Given the description of an element on the screen output the (x, y) to click on. 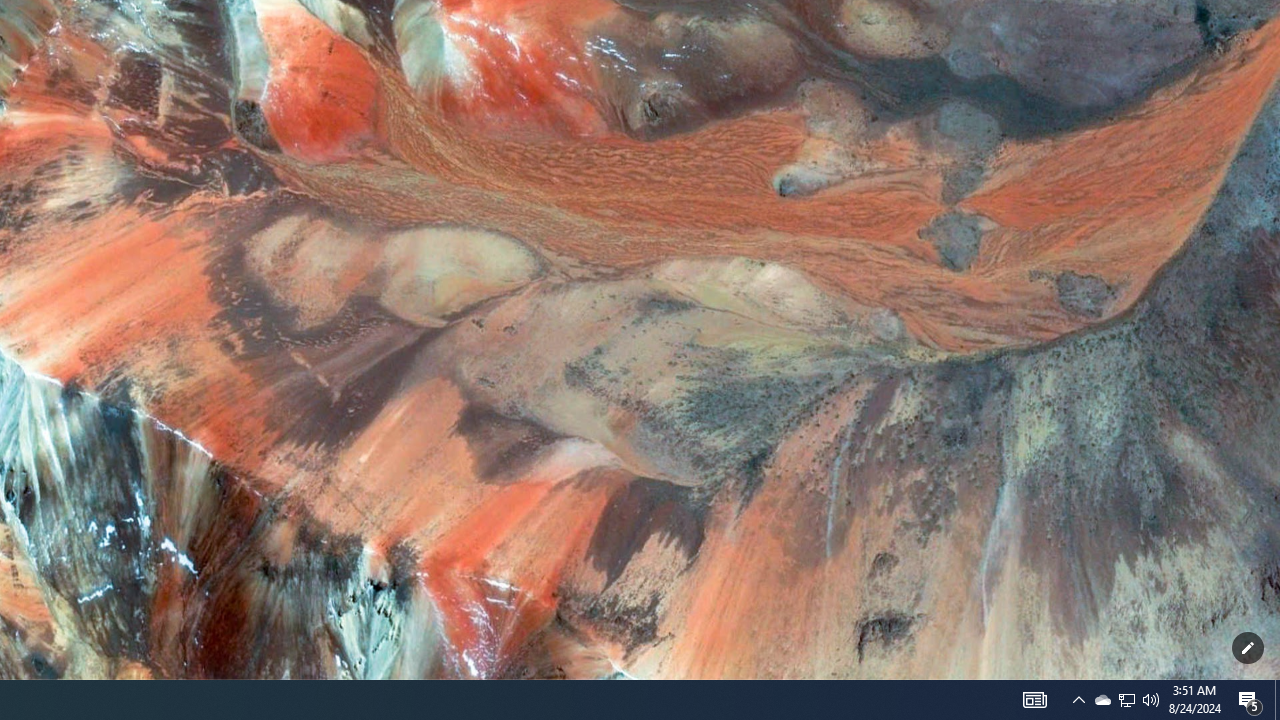
Customize this page (1247, 647)
